Given the description of an element on the screen output the (x, y) to click on. 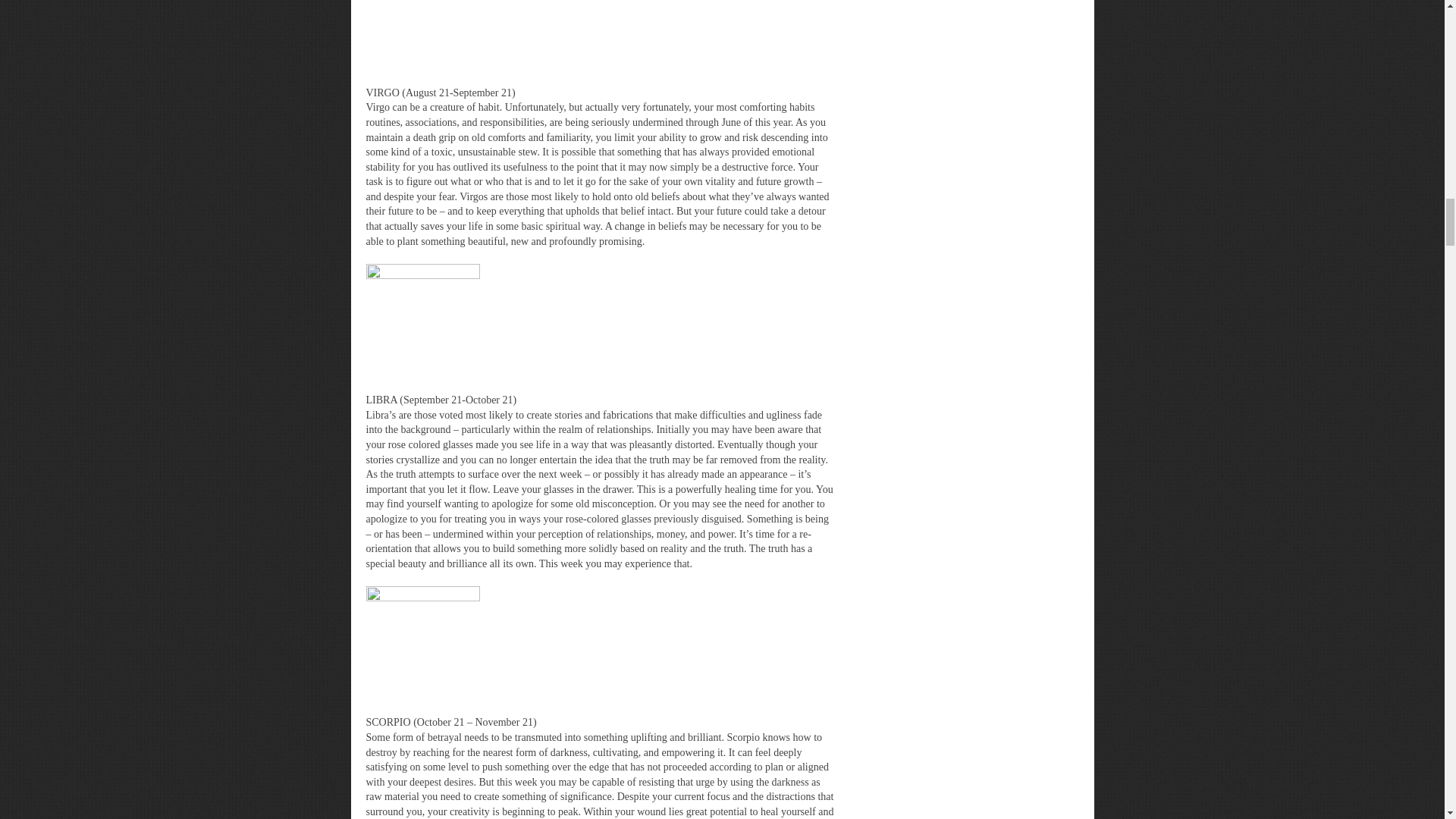
Libra (422, 320)
virgo (422, 27)
scorpio (422, 643)
